Given the description of an element on the screen output the (x, y) to click on. 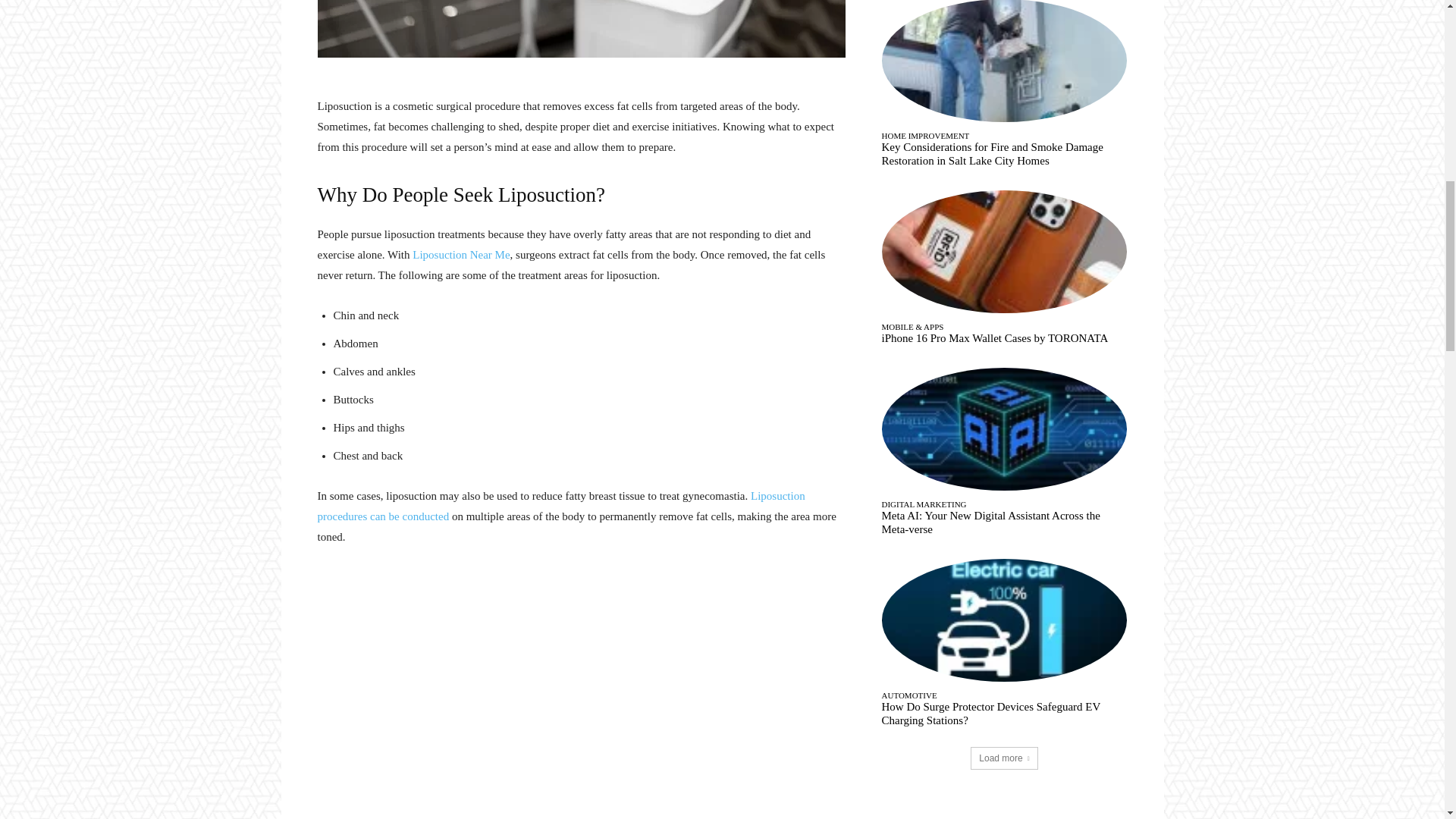
f1 (580, 28)
